Given the description of an element on the screen output the (x, y) to click on. 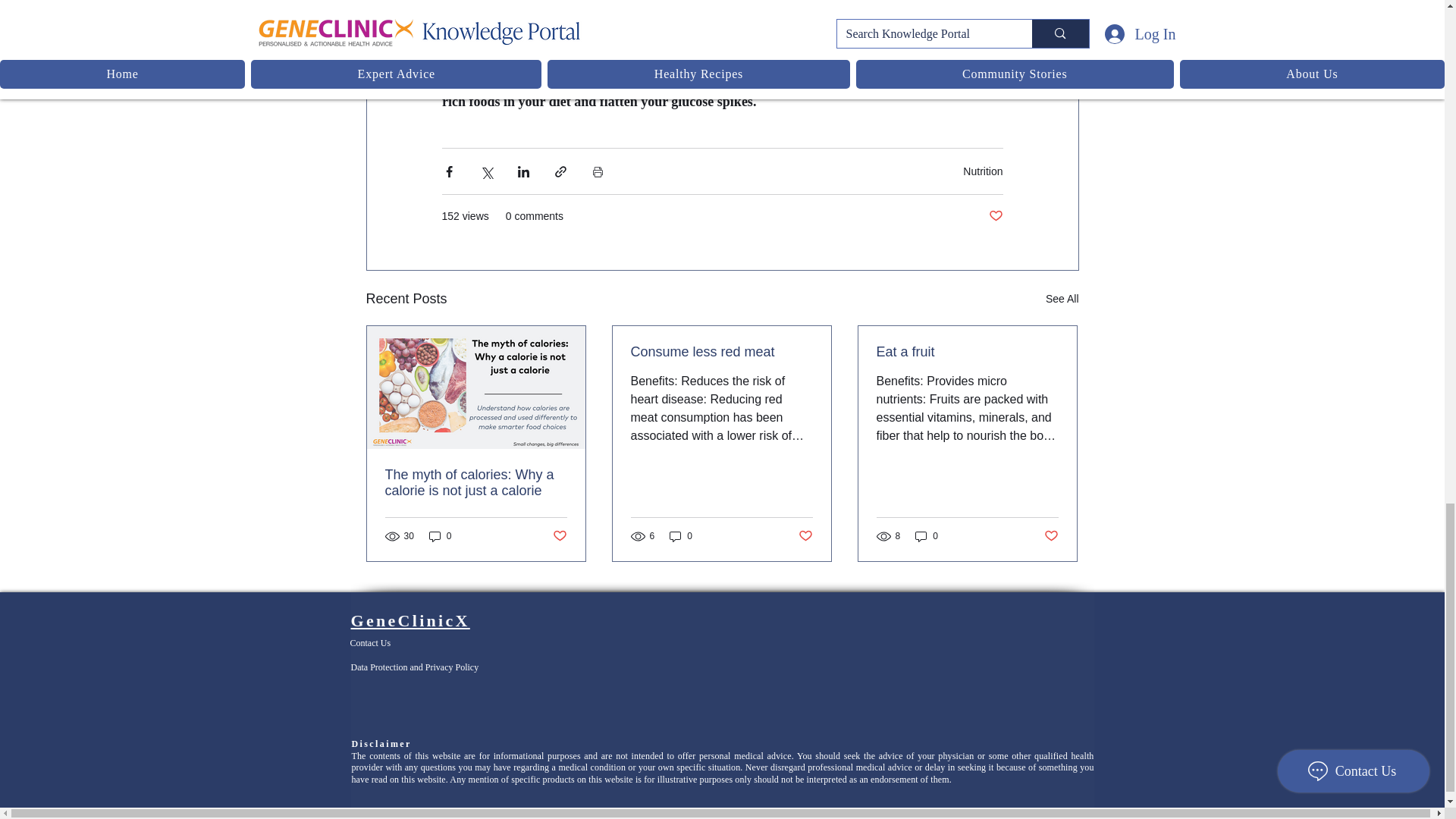
Post not marked as liked (804, 536)
0 (681, 536)
Consume less red meat (721, 351)
Post not marked as liked (1050, 536)
Contact Us (370, 643)
0 (440, 536)
Post not marked as liked (558, 536)
Post not marked as liked (995, 216)
Eat a fruit (967, 351)
0 (926, 536)
